Given the description of an element on the screen output the (x, y) to click on. 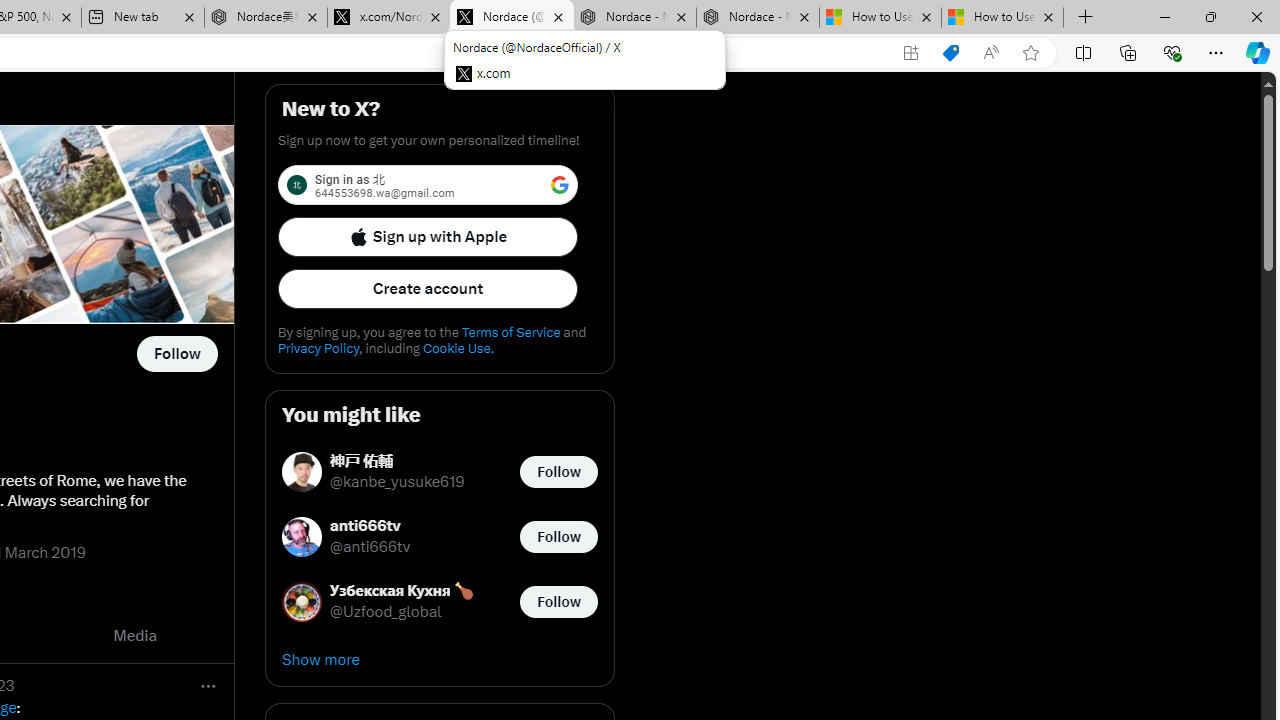
@kanbe_yusuke619 (397, 482)
Nordace (@NordaceOfficial) / X (511, 17)
Next (212, 636)
Show more (440, 660)
Follow @anti666tv (558, 535)
How to Use a Monitor With Your Closed Laptop (1002, 17)
Follow @Uzfood_global (558, 600)
Terms of Service (510, 331)
More (207, 685)
